Given the description of an element on the screen output the (x, y) to click on. 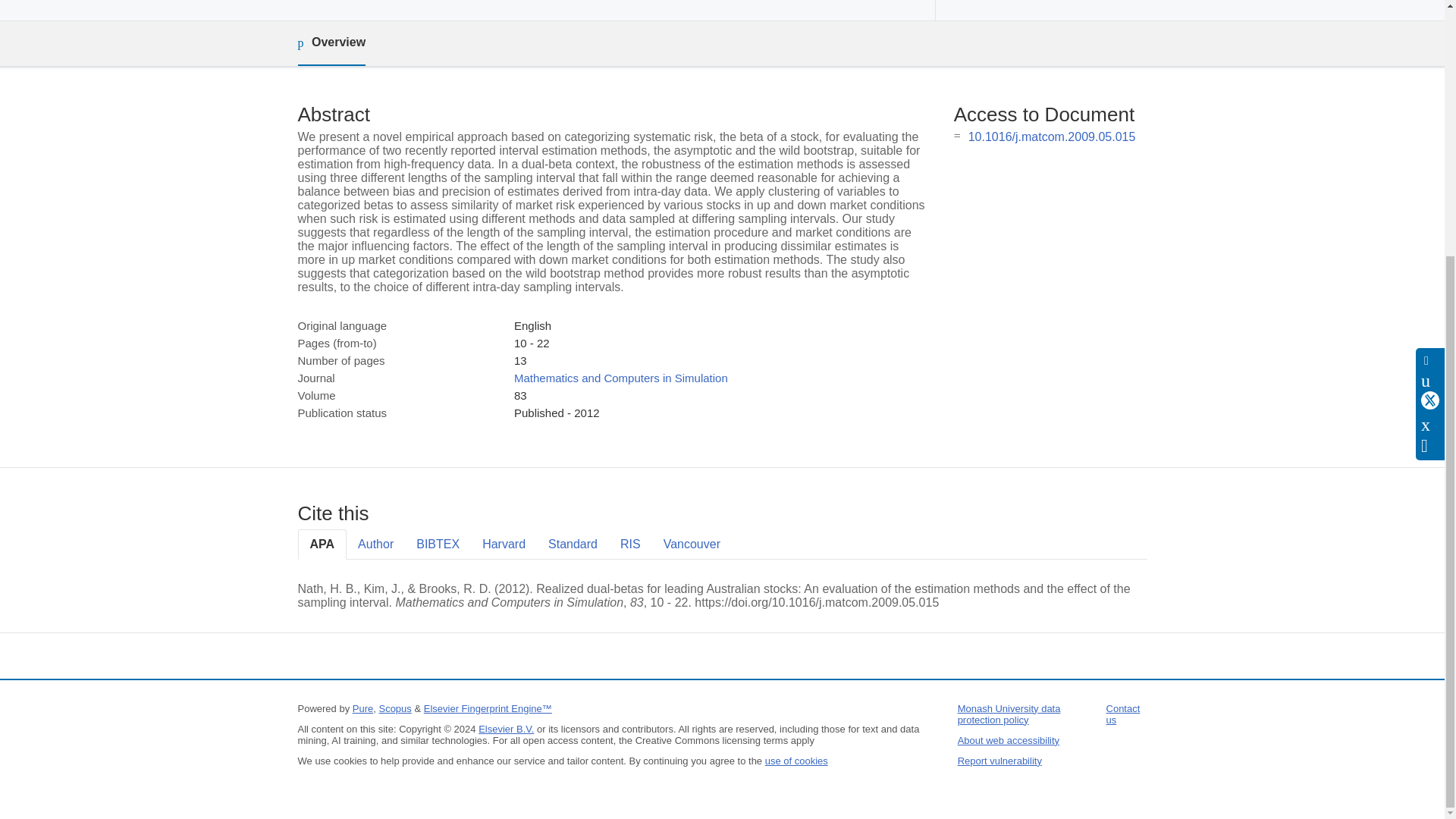
Mathematics and Computers in Simulation (620, 377)
Pure (362, 708)
Overview (331, 43)
Report vulnerability (1000, 760)
Scopus (394, 708)
use of cookies (796, 760)
Elsevier B.V. (506, 728)
About web accessibility (1008, 740)
Contact us (1123, 713)
Monash University data protection policy (1009, 713)
